Given the description of an element on the screen output the (x, y) to click on. 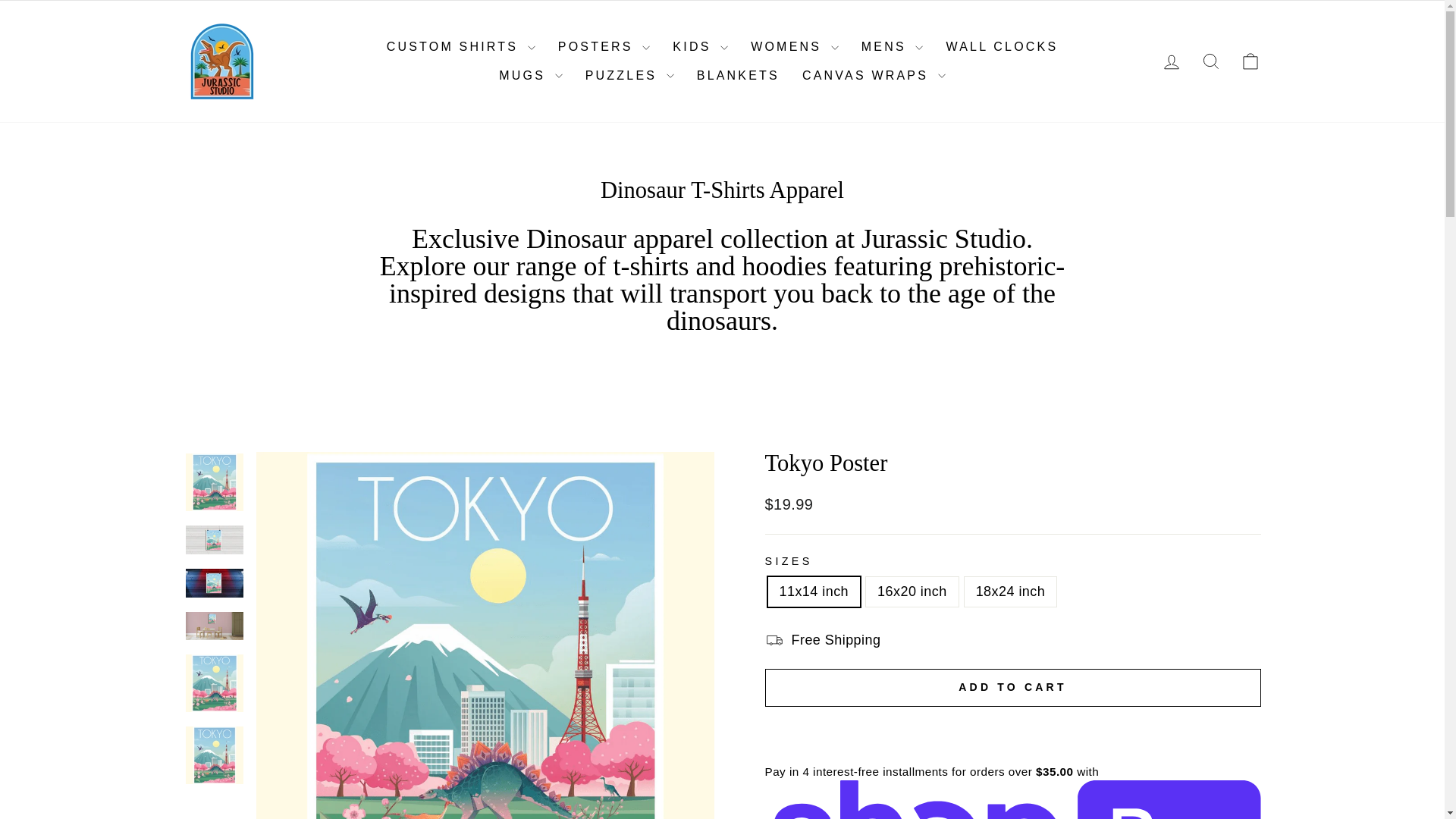
ACCOUNT (1170, 61)
ICON-BAG-MINIMAL (1249, 61)
ICON-SEARCH (1210, 61)
